Given the description of an element on the screen output the (x, y) to click on. 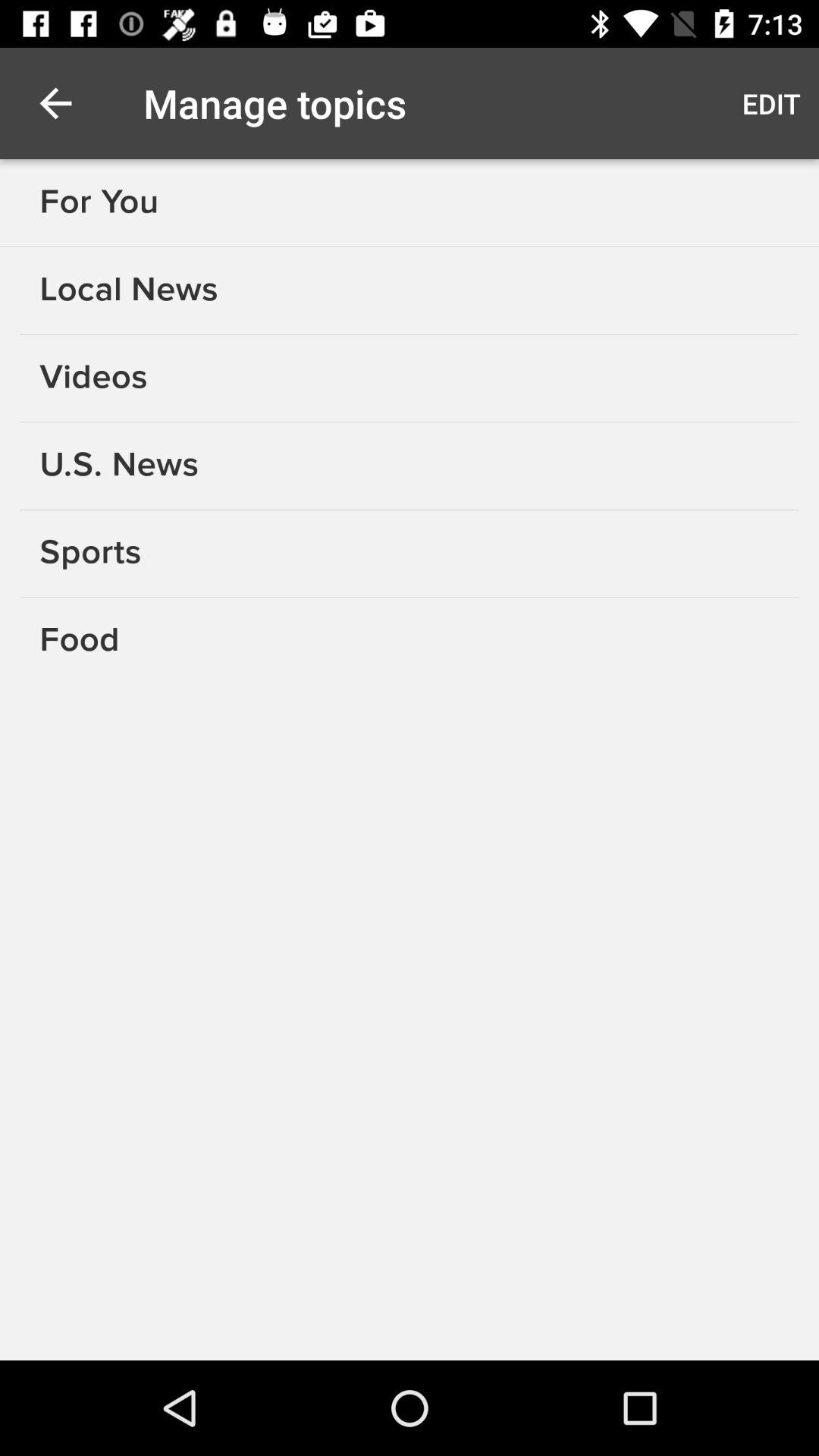
turn on icon next to manage topics icon (55, 103)
